Given the description of an element on the screen output the (x, y) to click on. 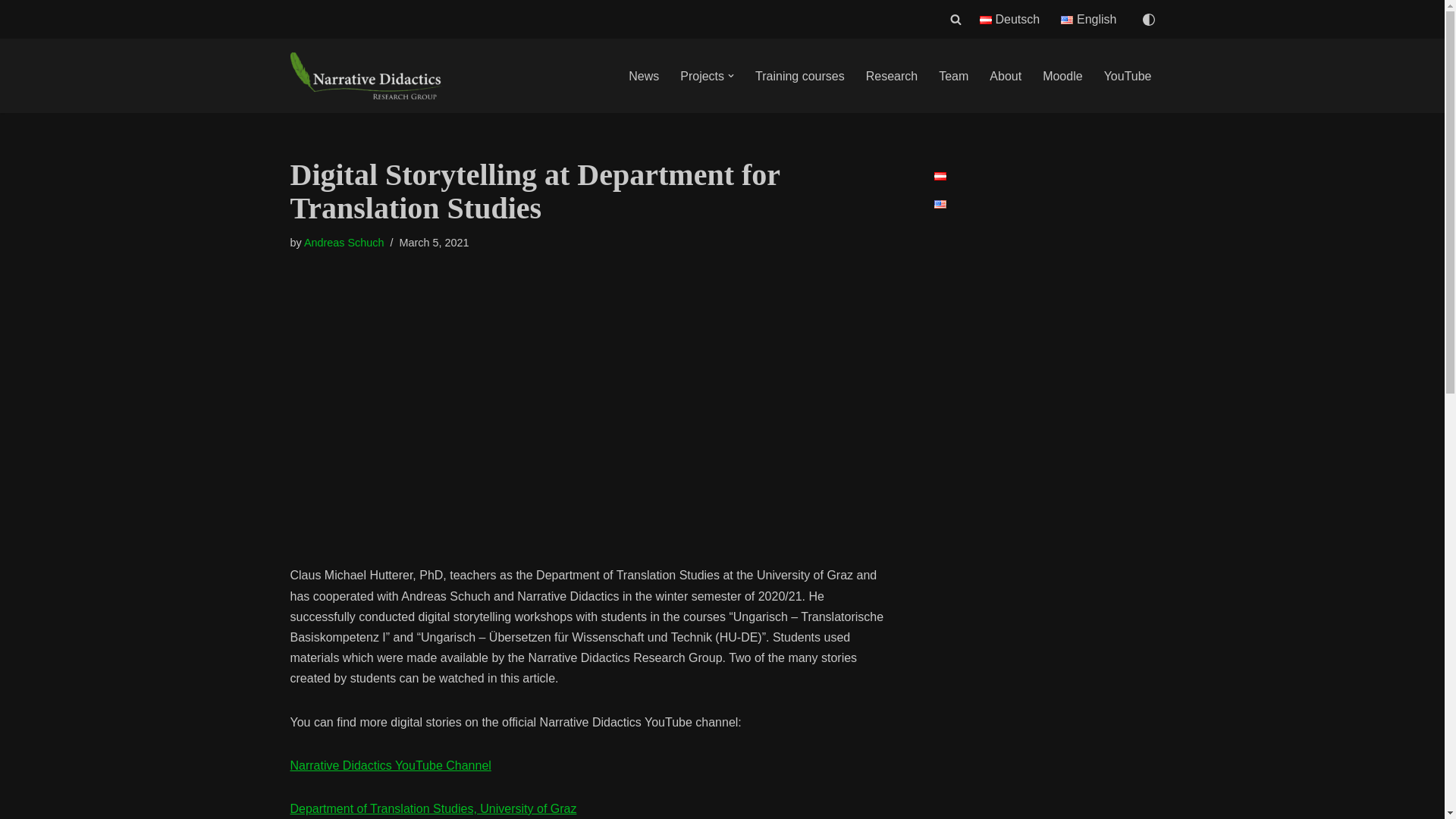
Team (953, 76)
Skip to content (11, 31)
Deutsch (1010, 19)
News (643, 76)
YouTube video player (744, 417)
YouTube (1127, 76)
Posts by Andreas Schuch (344, 242)
YouTube video player (432, 417)
Research (891, 76)
About (1006, 76)
English (1088, 19)
Training courses (799, 76)
Projects (701, 76)
Moodle (1061, 76)
